Given the description of an element on the screen output the (x, y) to click on. 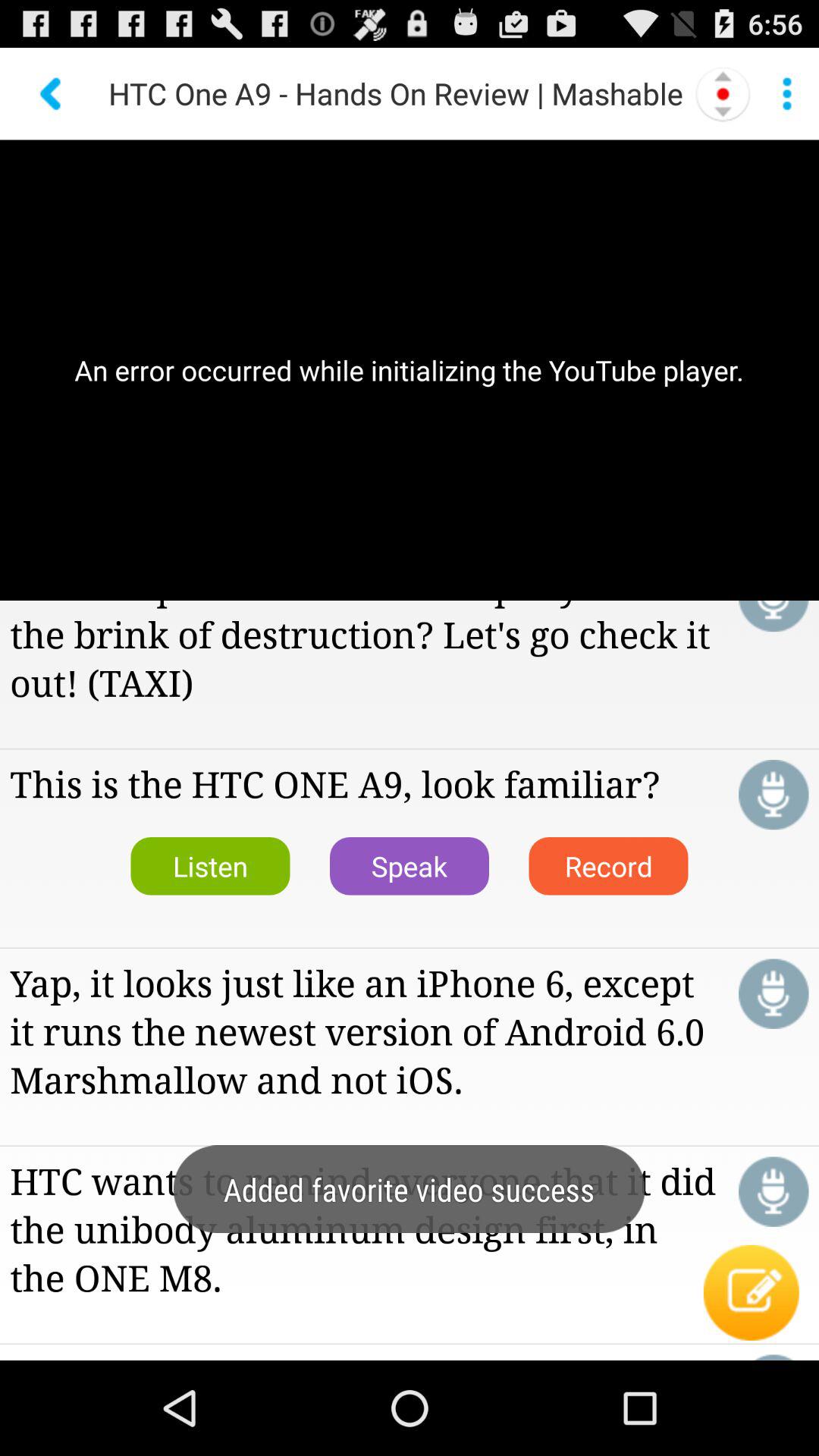
left right option (723, 93)
